Given the description of an element on the screen output the (x, y) to click on. 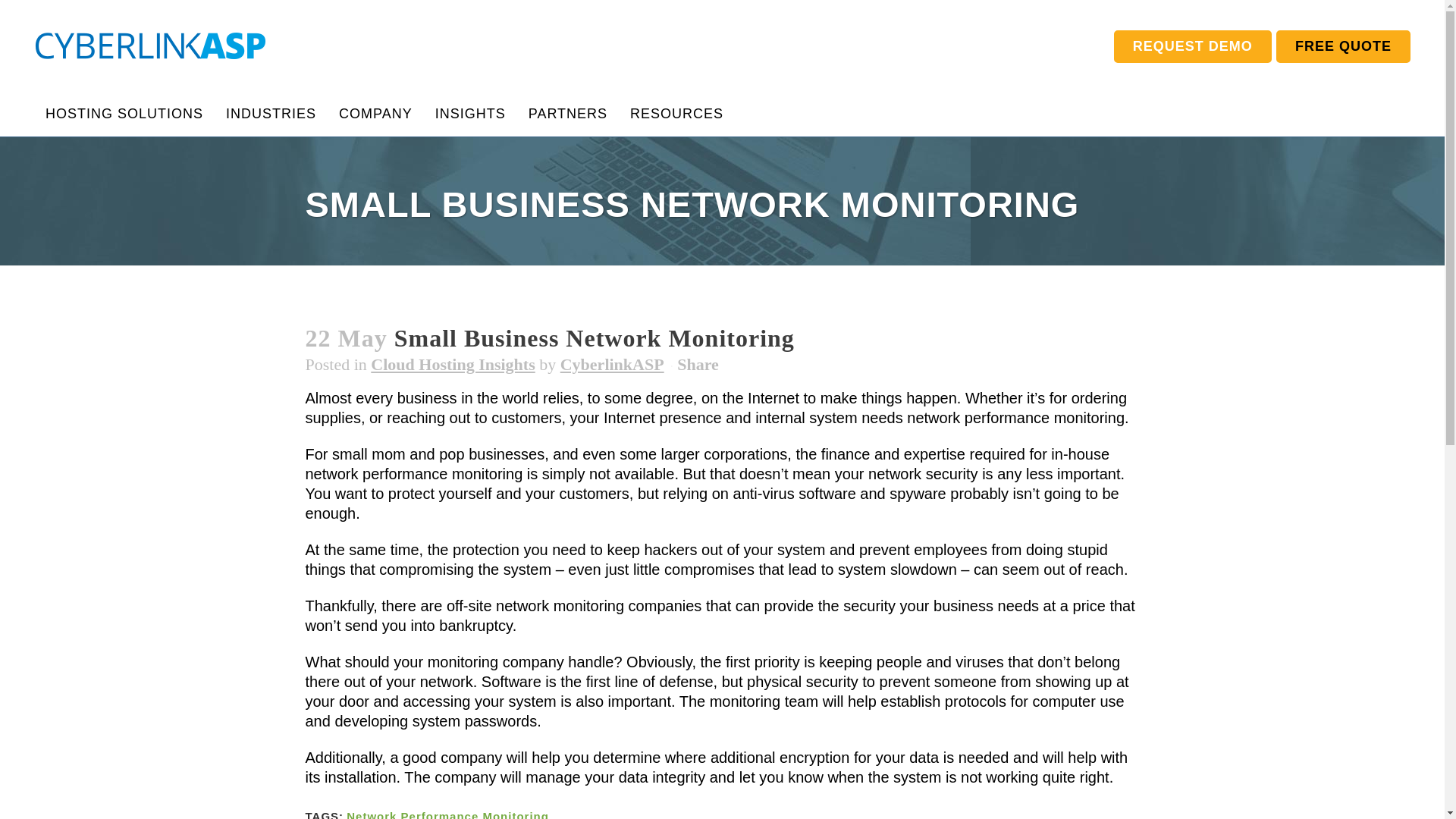
HOSTING SOLUTIONS (123, 113)
INSIGHTS (469, 113)
FREE QUOTE (1343, 46)
COMPANY (375, 113)
INDUSTRIES (270, 113)
PARTNERS (567, 113)
REQUEST DEMO (1192, 46)
RESOURCES (676, 113)
